Given the description of an element on the screen output the (x, y) to click on. 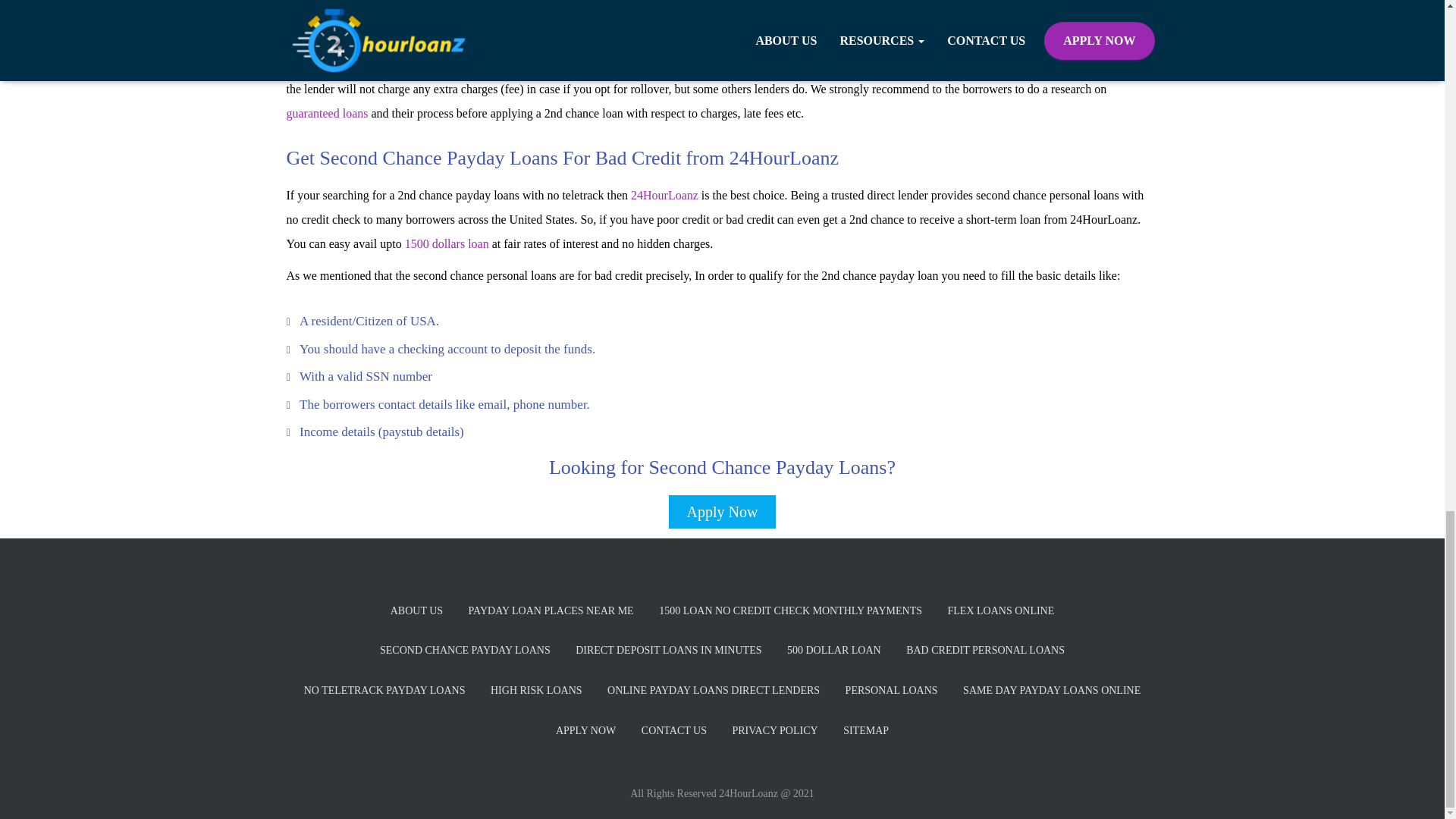
1500 LOAN NO CREDIT CHECK MONTHLY PAYMENTS (790, 611)
ABOUT US (416, 611)
DIRECT DEPOSIT LOANS IN MINUTES (668, 650)
1500 dollars loan (446, 243)
24HourLoanz (664, 195)
HIGH RISK LOANS (536, 690)
FLEX LOANS ONLINE (1000, 611)
500 DOLLAR LOAN (834, 650)
PAYDAY LOAN PLACES NEAR ME (551, 611)
SECOND CHANCE PAYDAY LOANS (465, 650)
guaranteed loans (327, 113)
Apply Now (722, 511)
BAD CREDIT PERSONAL LOANS (985, 650)
NO TELETRACK PAYDAY LOANS (384, 690)
